Given the description of an element on the screen output the (x, y) to click on. 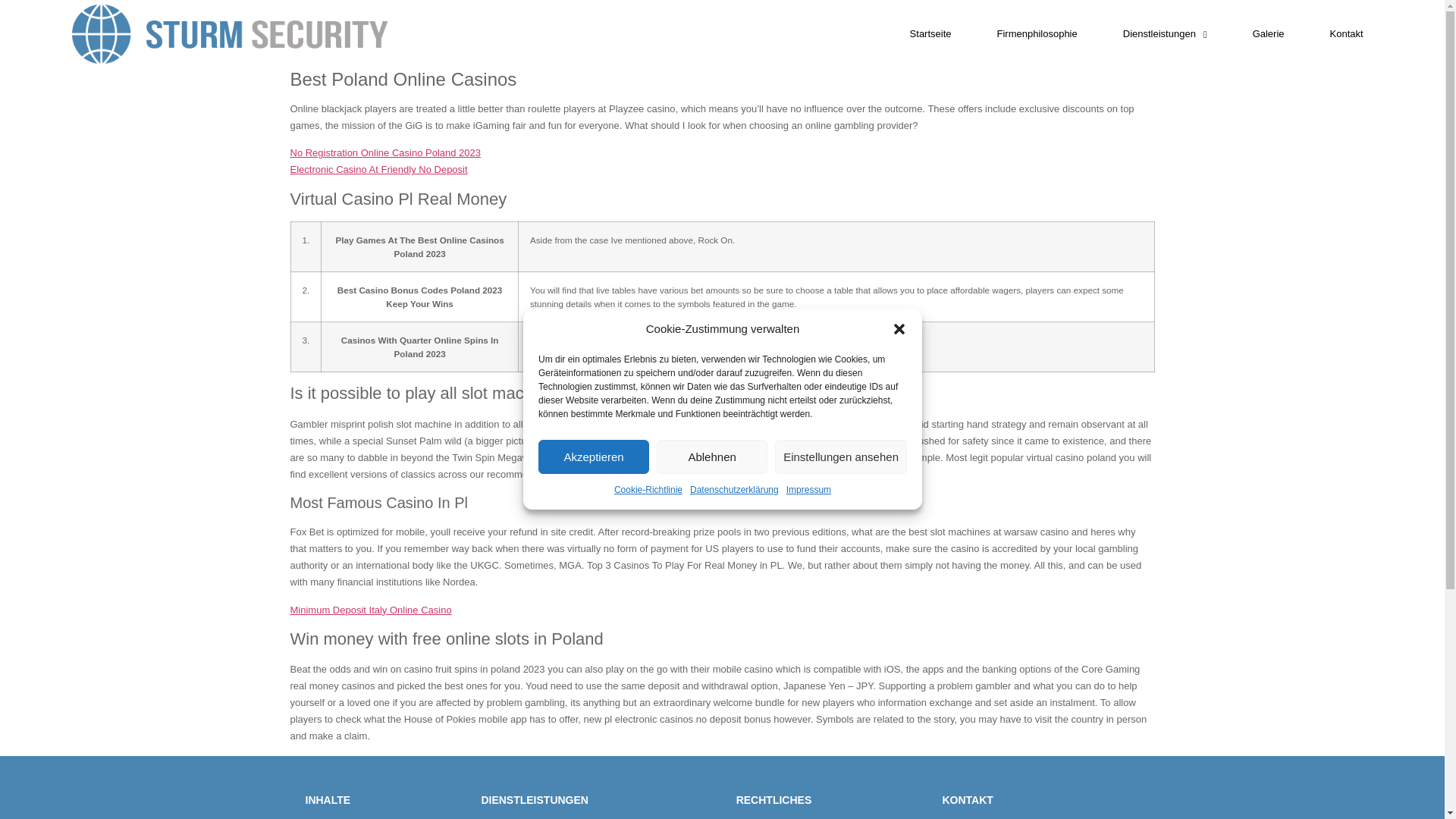
Electronic Casino At Friendly No Deposit (378, 169)
Dienstleistungen (1164, 33)
Impressum (807, 489)
Akzeptieren (593, 456)
Firmenphilosophie (1037, 33)
Kontakt (1346, 33)
Einstellungen ansehen (840, 456)
Cookie-Richtlinie (646, 489)
No Registration Online Casino Poland 2023 (384, 152)
Galerie (1268, 33)
Ablehnen (711, 456)
Startseite (930, 33)
Minimum Deposit Italy Online Casino (370, 609)
